Given the description of an element on the screen output the (x, y) to click on. 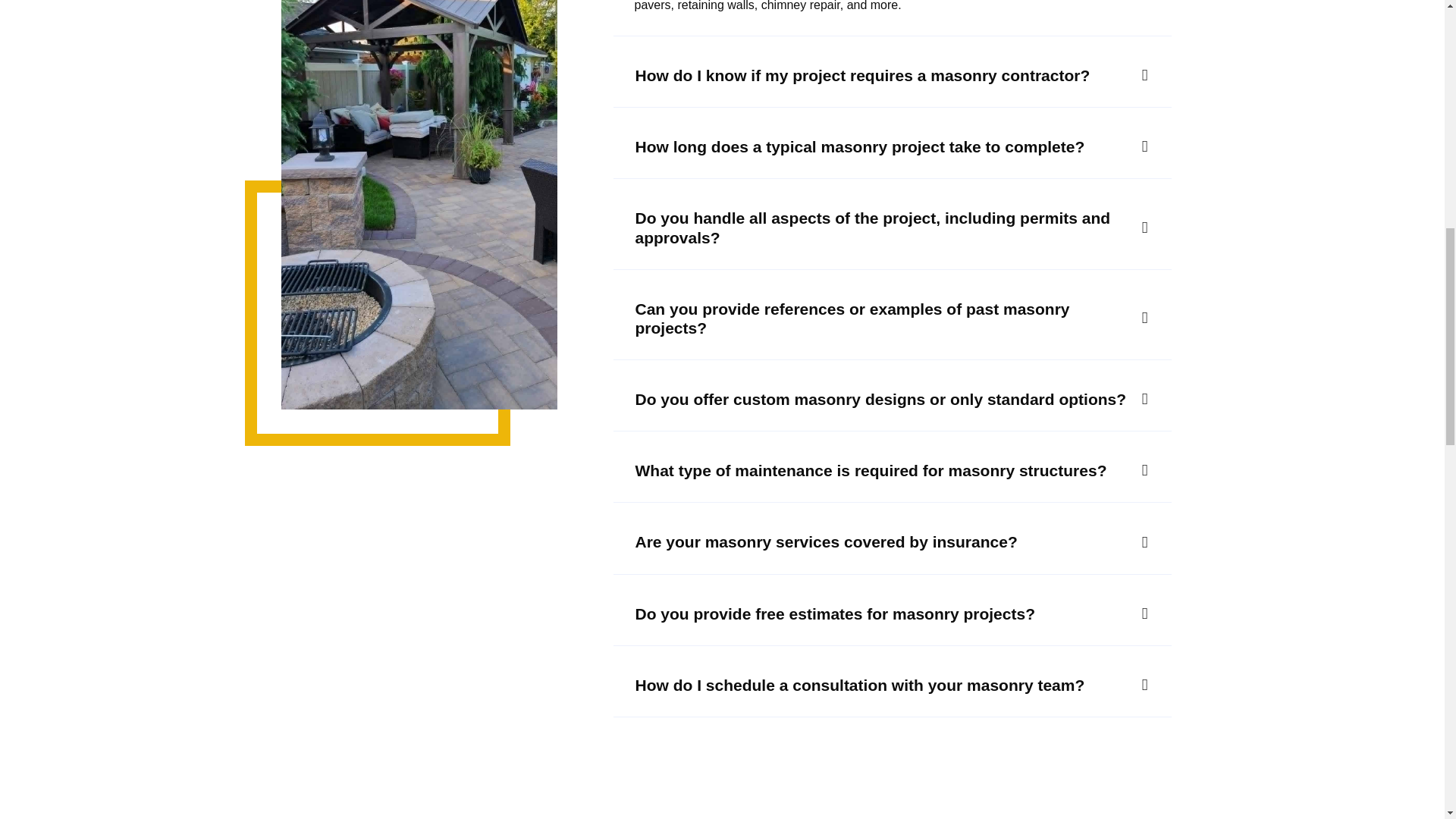
How long does a typical masonry project take to complete? (891, 146)
How do I know if my project requires a masonry contractor? (891, 75)
How do I schedule a consultation with your masonry team? (891, 684)
Do you provide free estimates for masonry projects? (891, 613)
What type of maintenance is required for masonry structures? (891, 470)
Are your masonry services covered by insurance? (891, 541)
